Given the description of an element on the screen output the (x, y) to click on. 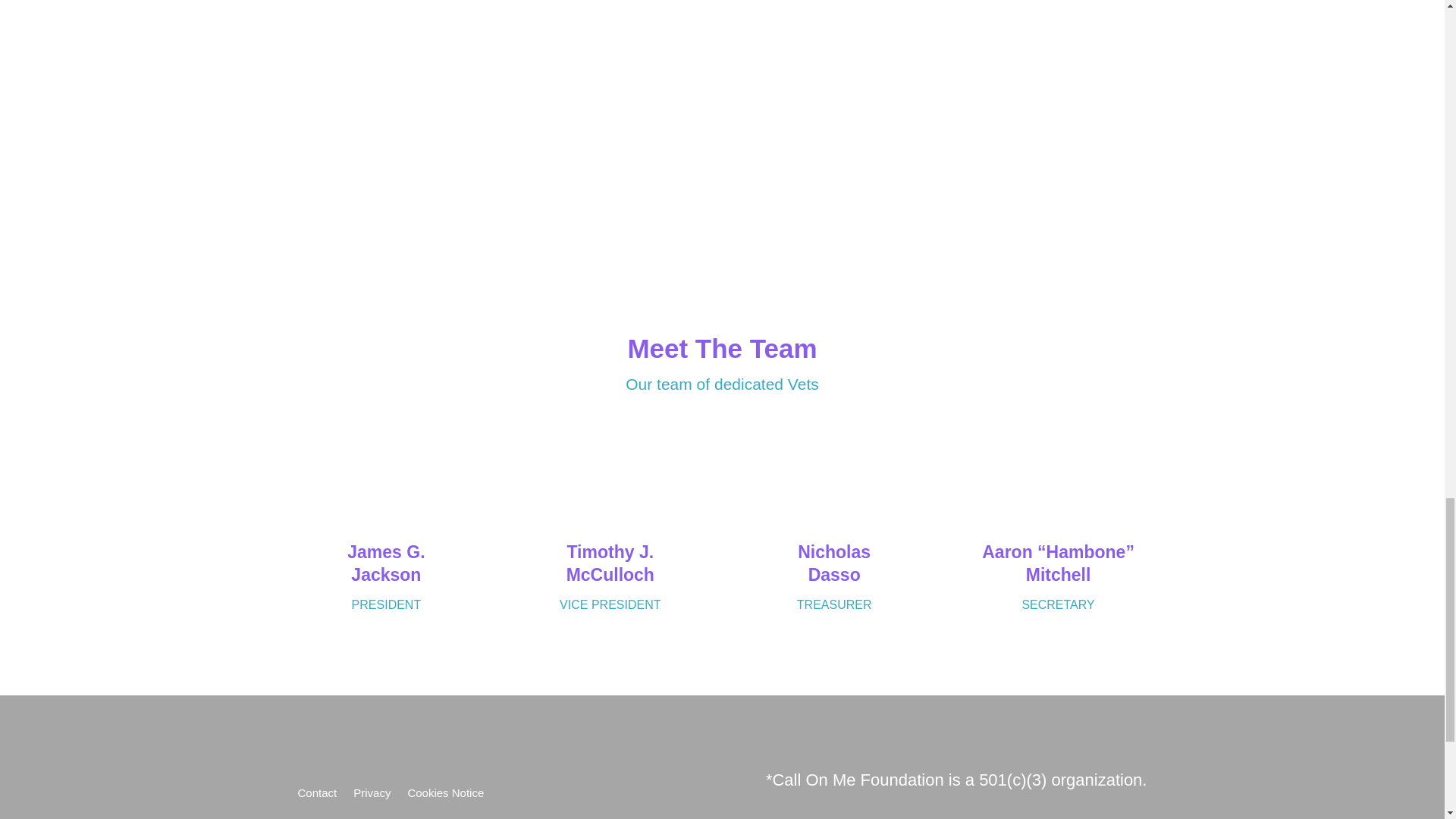
Contact (316, 795)
RenderedImage.thumbnail (721, 74)
Privacy (371, 795)
Cookies Notice (445, 795)
